Given the description of an element on the screen output the (x, y) to click on. 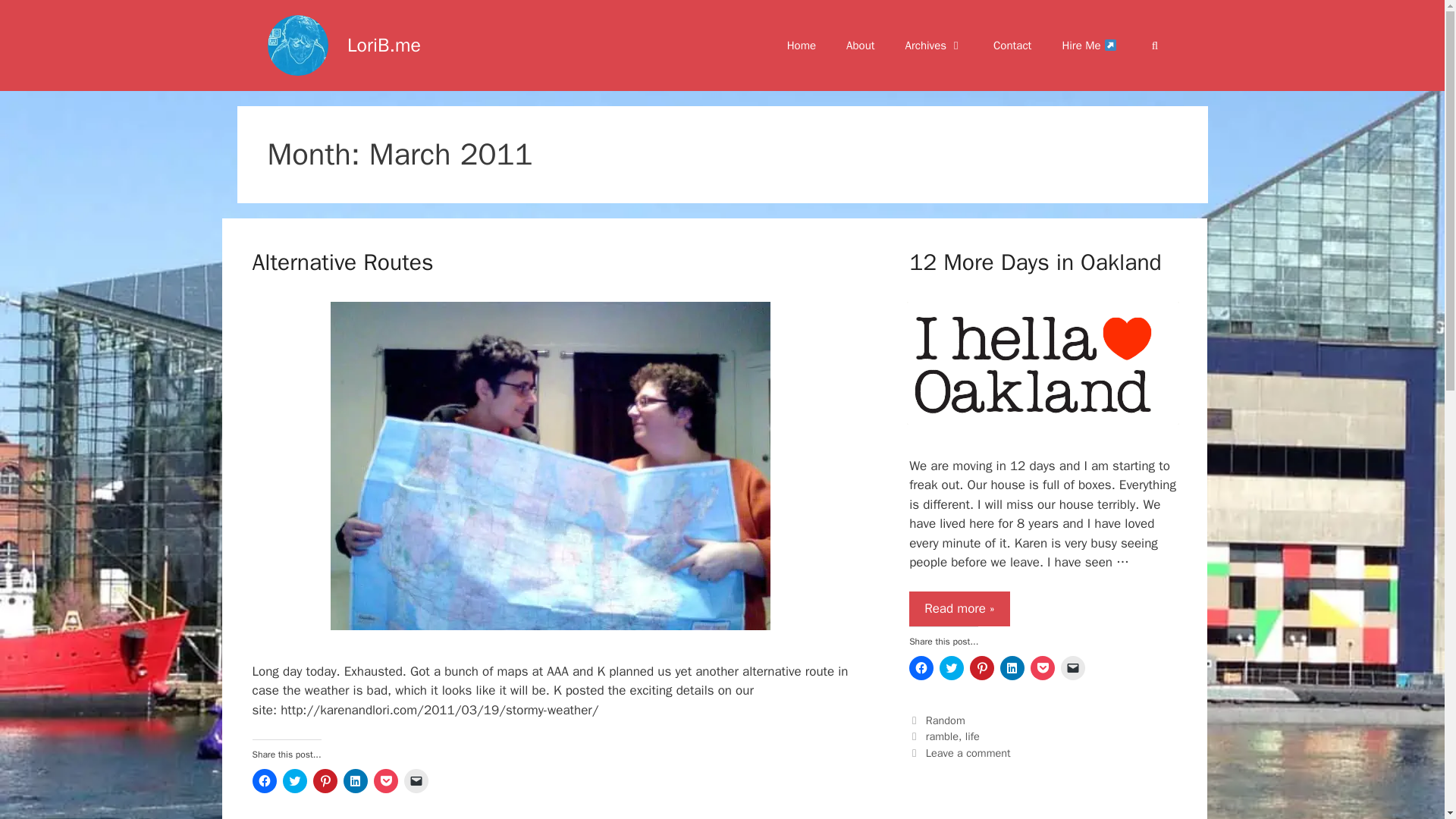
Home (801, 45)
Click to share on Twitter (293, 781)
About (860, 45)
Click to email a link to a friend (415, 781)
Click to share on Facebook (920, 668)
Archives (933, 45)
Click to share on Pocket (1042, 668)
Click to share on Pocket (384, 781)
Click to share on LinkedIn (1012, 668)
Click to share on Pinterest (981, 668)
LoriB.me (383, 44)
Click to email a link to a friend (1072, 668)
Click to share on LinkedIn (354, 781)
Click to share on Twitter (951, 668)
Contact (1012, 45)
